Given the description of an element on the screen output the (x, y) to click on. 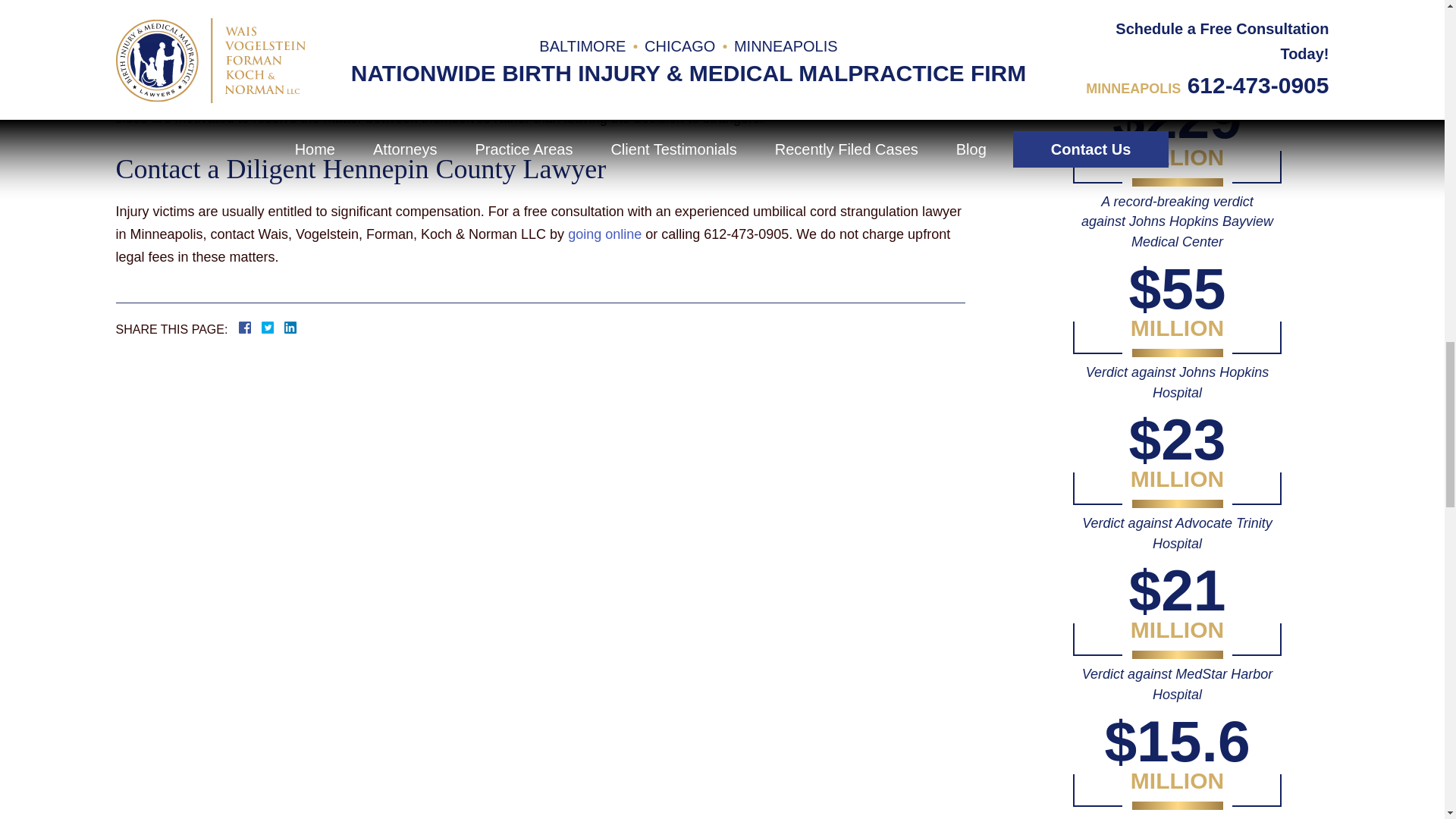
LinkedIn (284, 327)
Twitter (273, 327)
Facebook (262, 327)
